Given the description of an element on the screen output the (x, y) to click on. 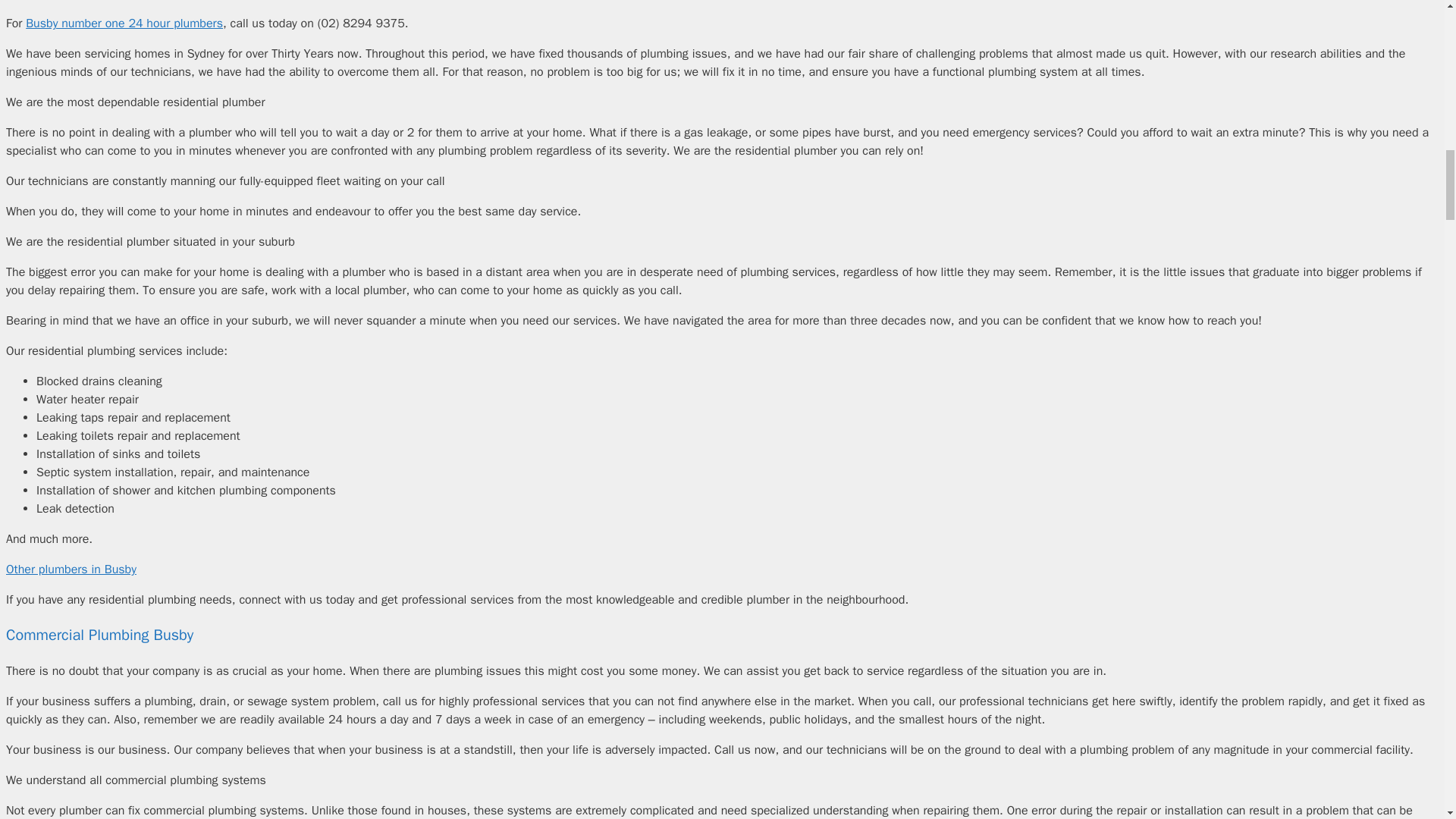
Other plumbers in Busby (70, 569)
Busby number one 24 hour plumbers (124, 23)
Commercial Plumbing Busby (99, 634)
